Given the description of an element on the screen output the (x, y) to click on. 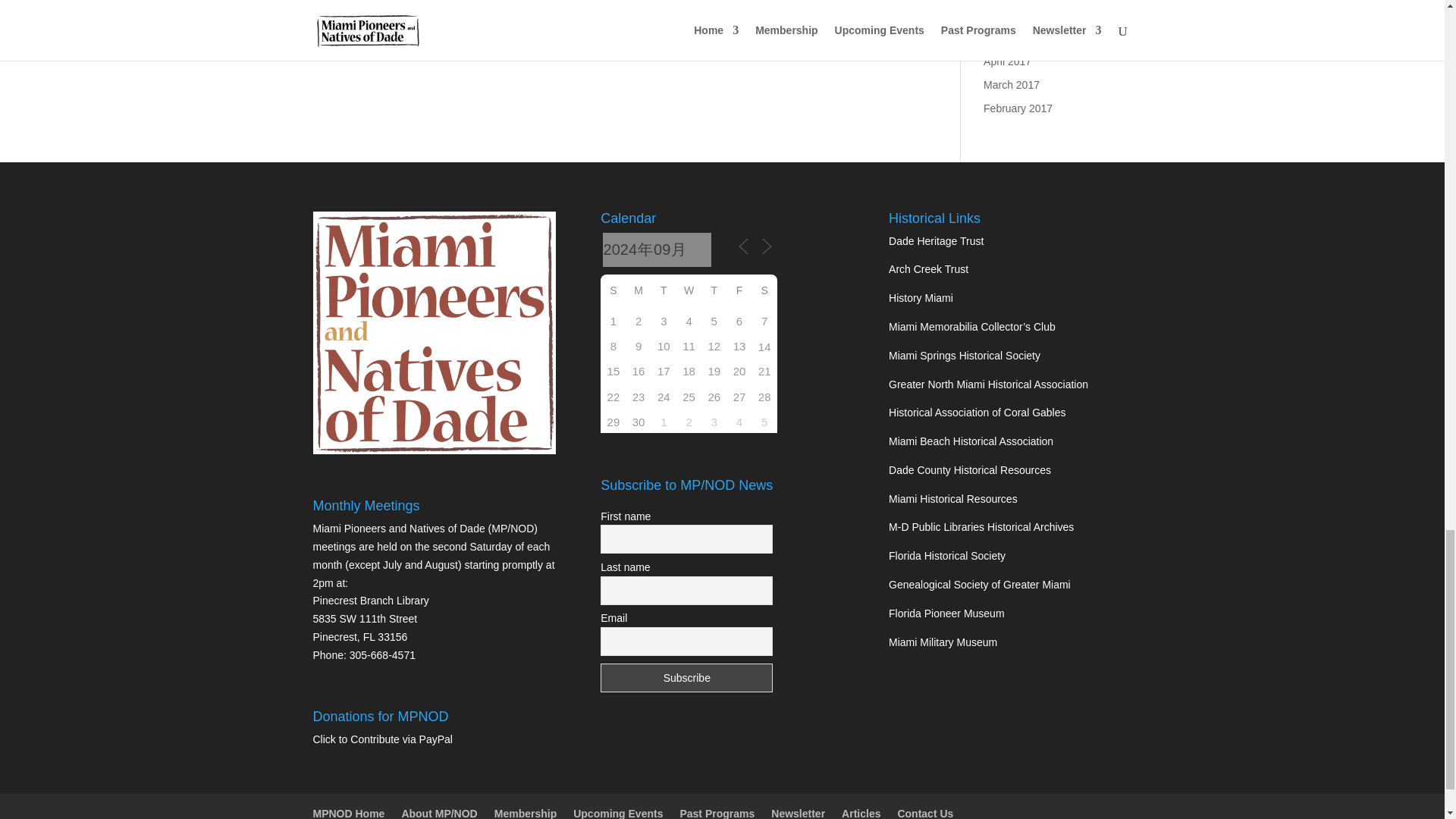
2024-09 (656, 249)
Subscribe (686, 677)
MPNOD logo (433, 332)
